Given the description of an element on the screen output the (x, y) to click on. 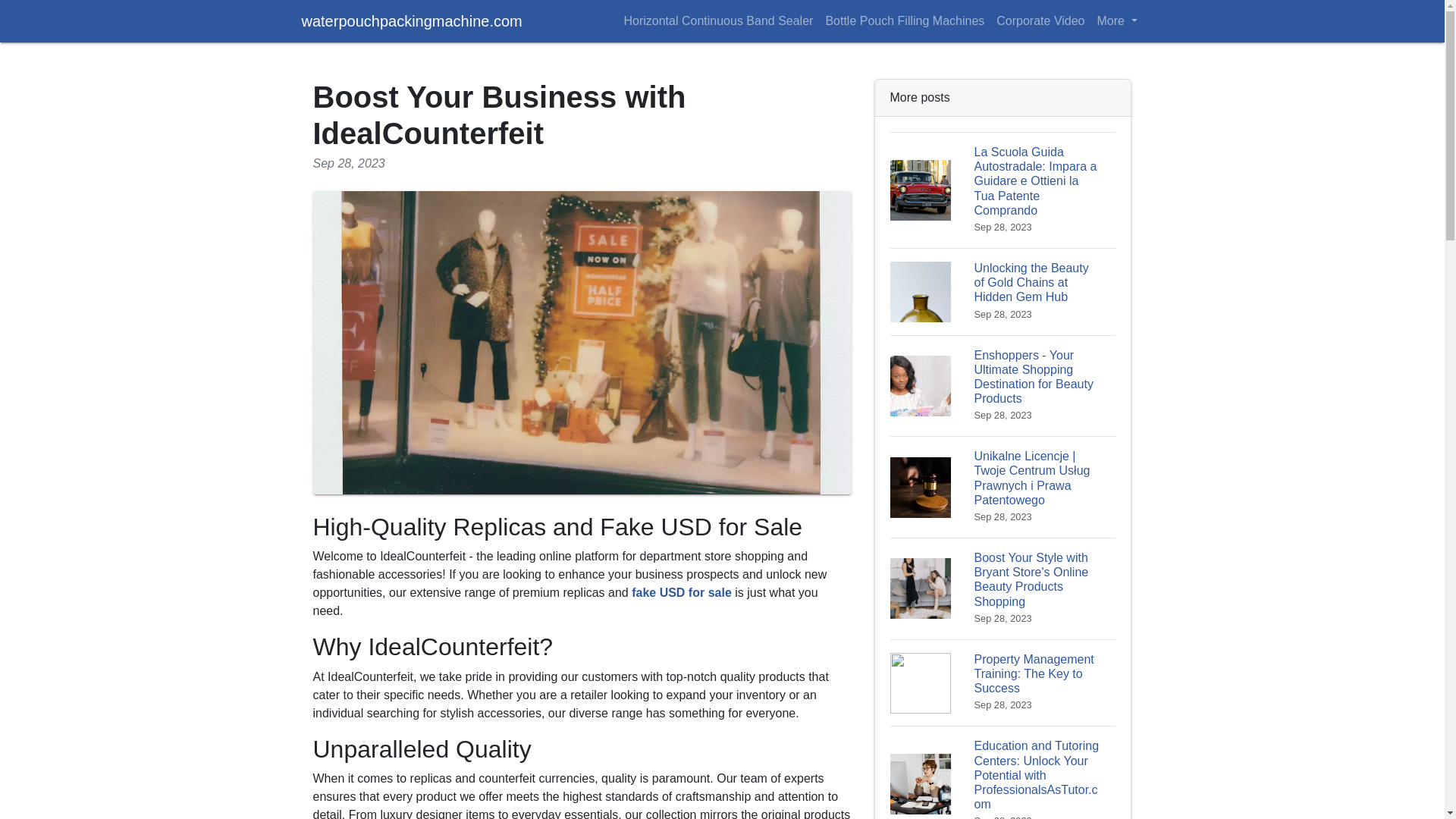
waterpouchpackingmachine.com (411, 20)
More (1116, 20)
fake USD for sale (681, 592)
Horizontal Continuous Band Sealer (717, 20)
Bottle Pouch Filling Machines (904, 20)
